Given the description of an element on the screen output the (x, y) to click on. 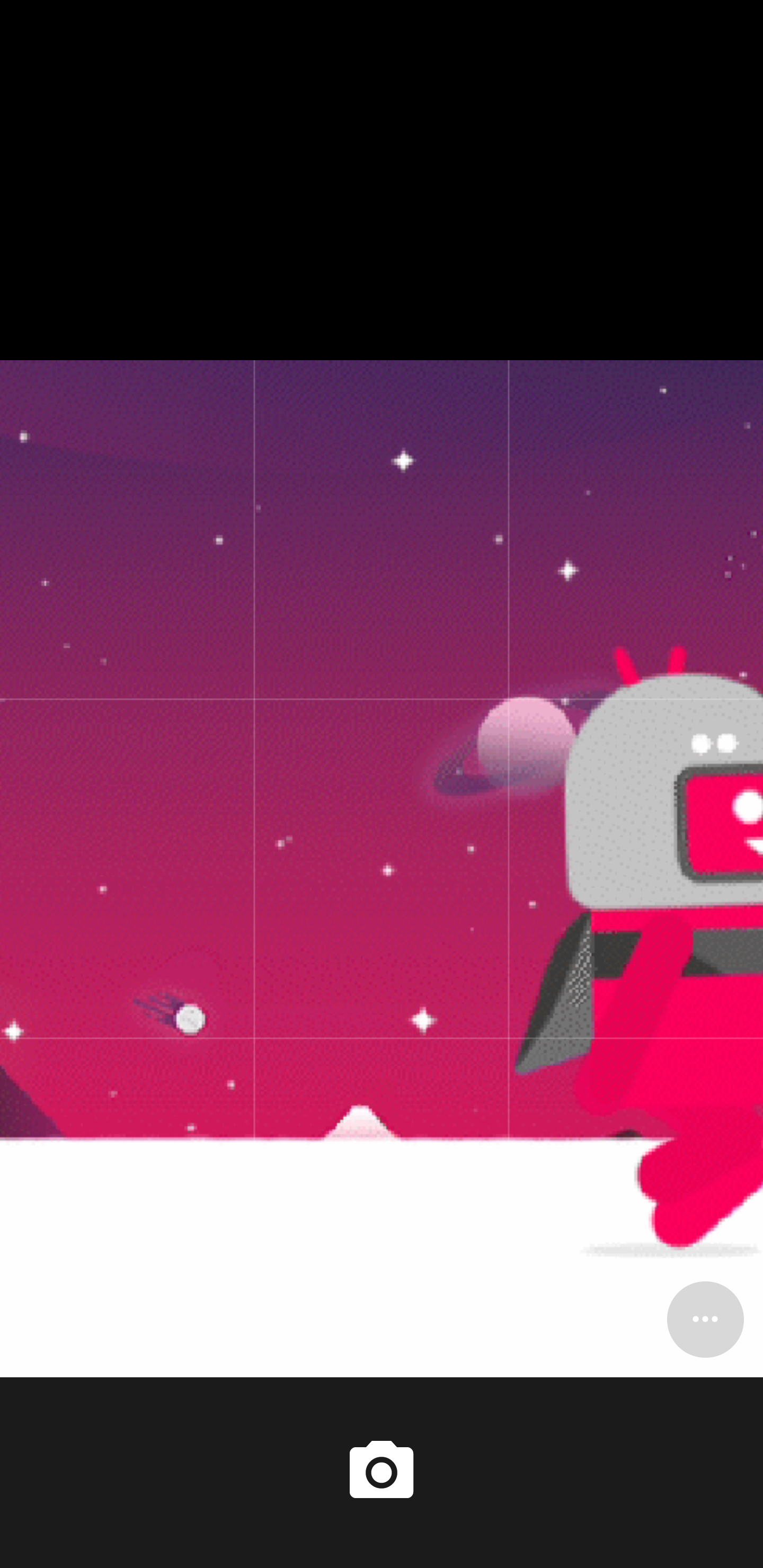
Options (704, 1319)
Shutter (381, 1472)
